Given the description of an element on the screen output the (x, y) to click on. 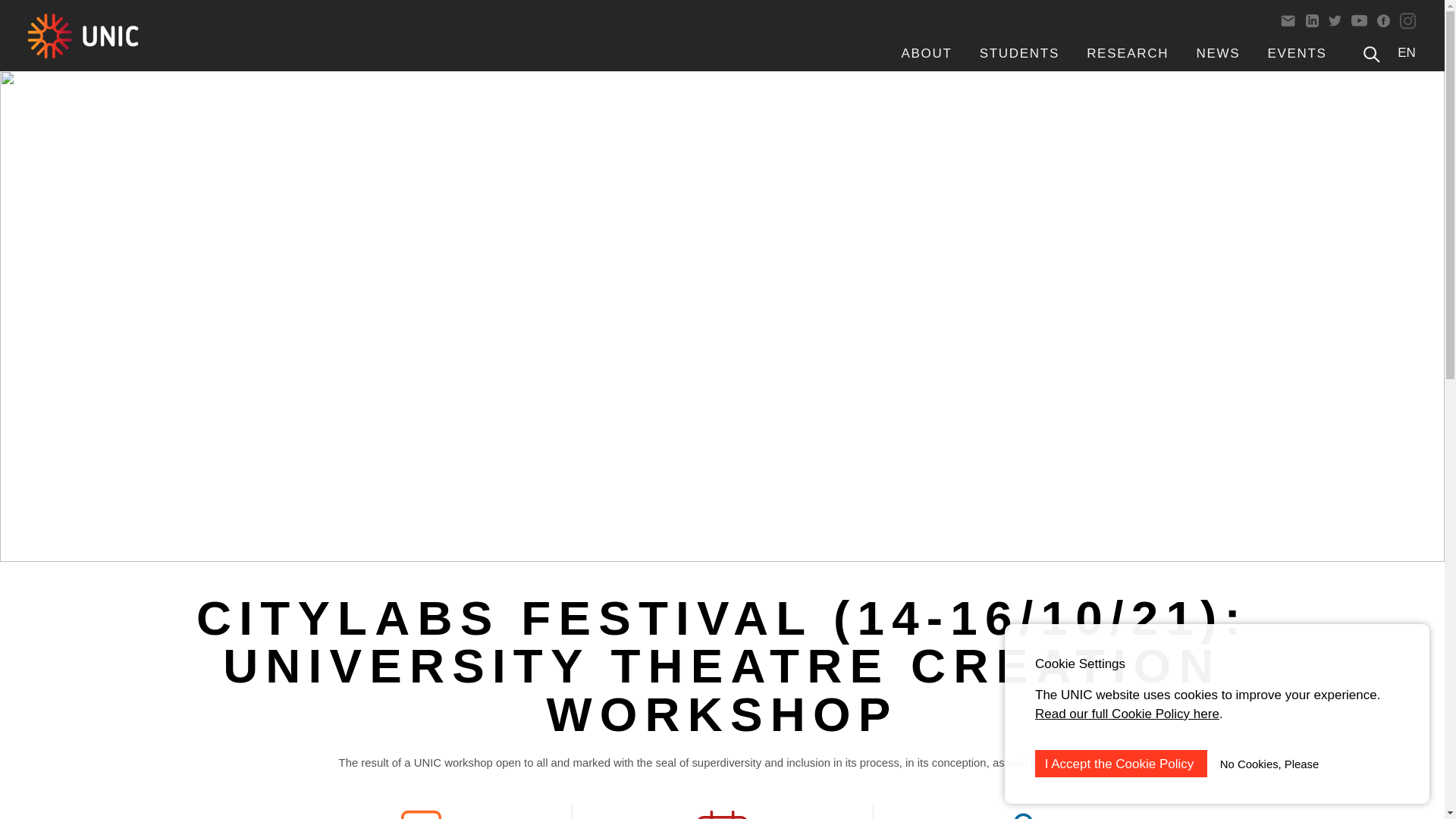
NEWS (1217, 52)
RESEARCH (1127, 52)
STUDENTS (1019, 52)
ABOUT (926, 52)
EVENTS (1296, 52)
